Given the description of an element on the screen output the (x, y) to click on. 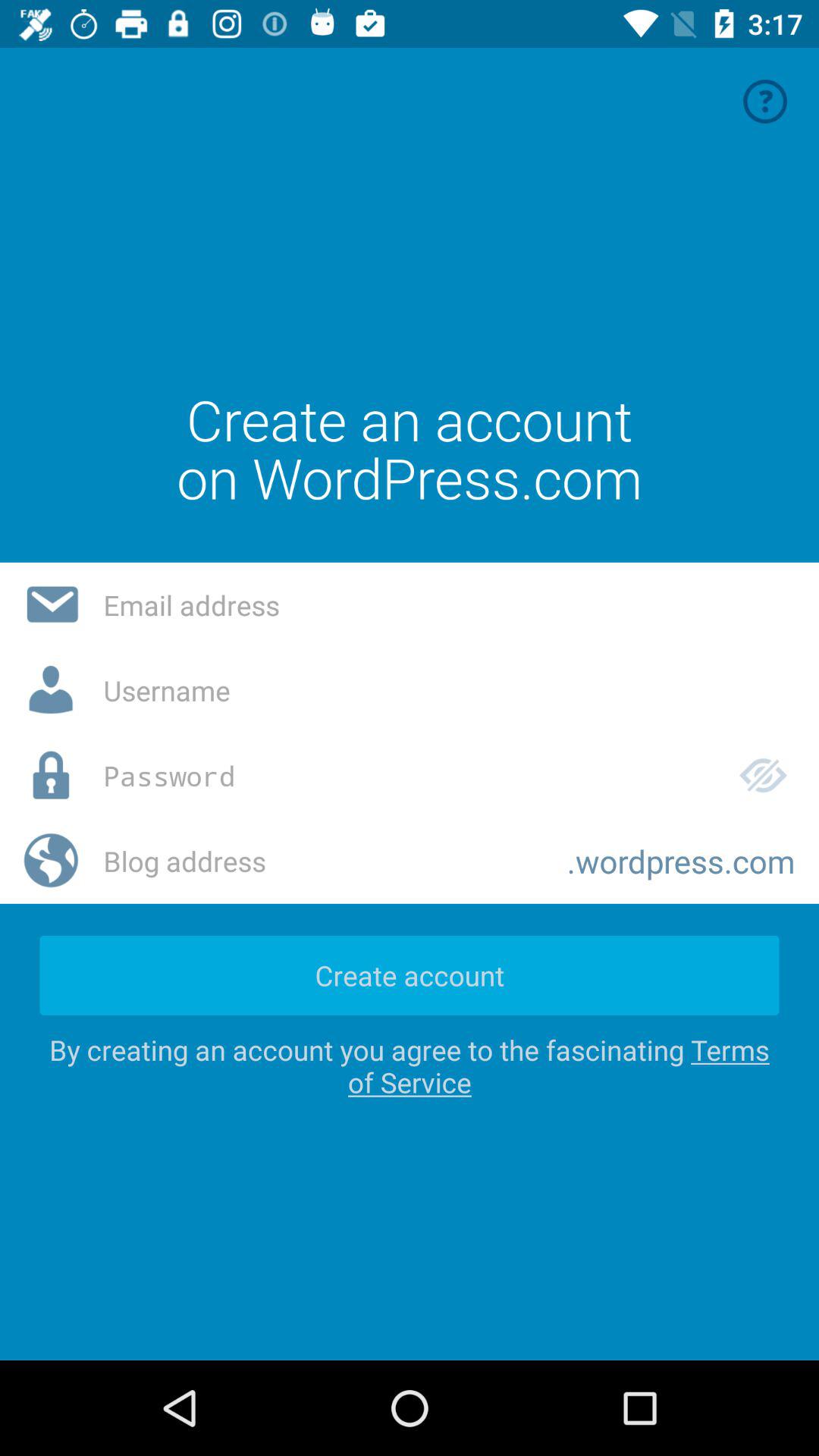
see the blog address (323, 860)
